Given the description of an element on the screen output the (x, y) to click on. 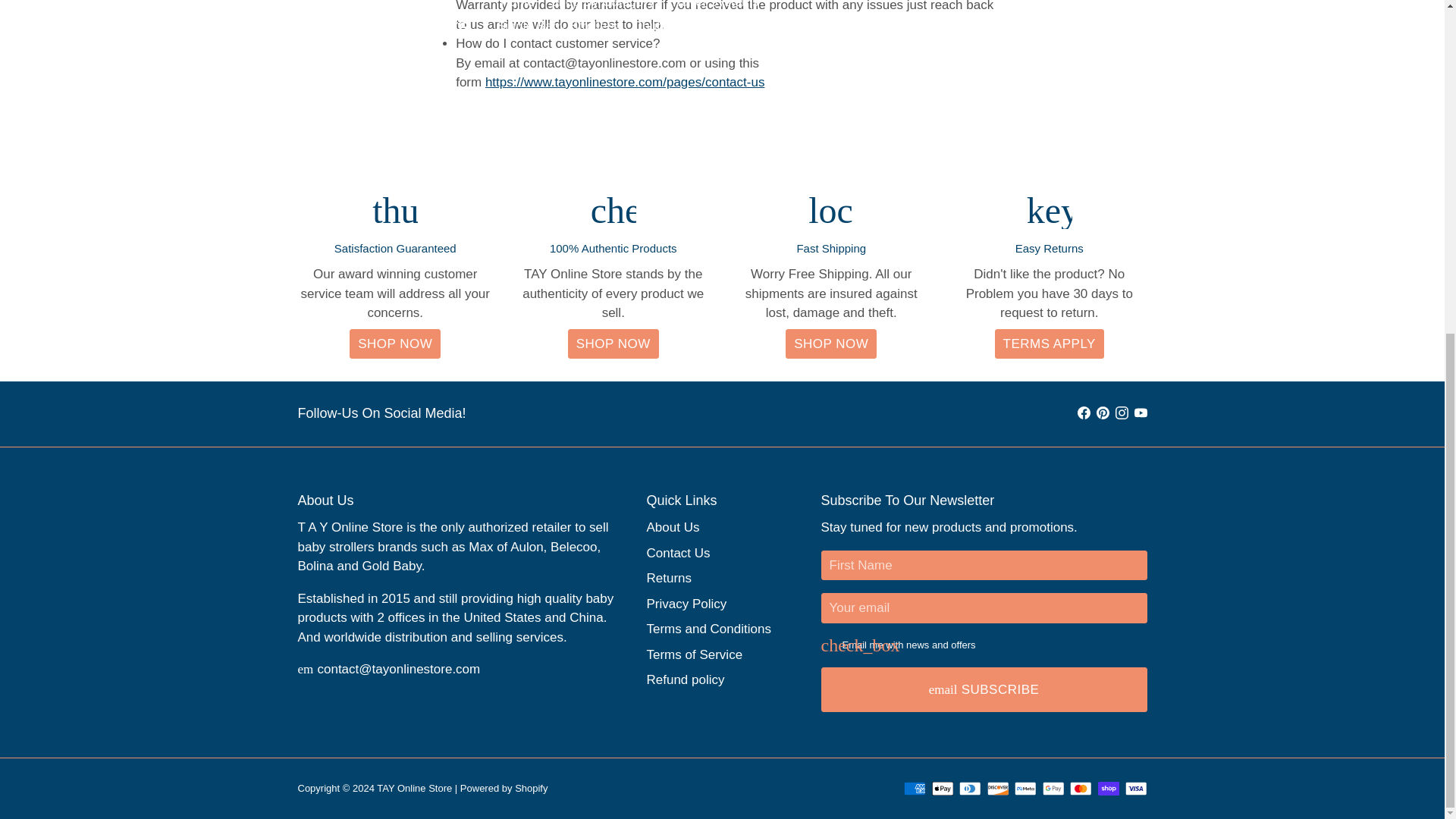
Apple Pay (941, 788)
Mastercard (1081, 788)
TAY Online Store on Facebook (1083, 413)
Google Pay (1052, 788)
Meta Pay (1025, 788)
Shop Pay (1108, 788)
Visa (1136, 788)
TAY Online Store on Pinterest (1102, 413)
Discover (998, 788)
American Express (915, 788)
